Given the description of an element on the screen output the (x, y) to click on. 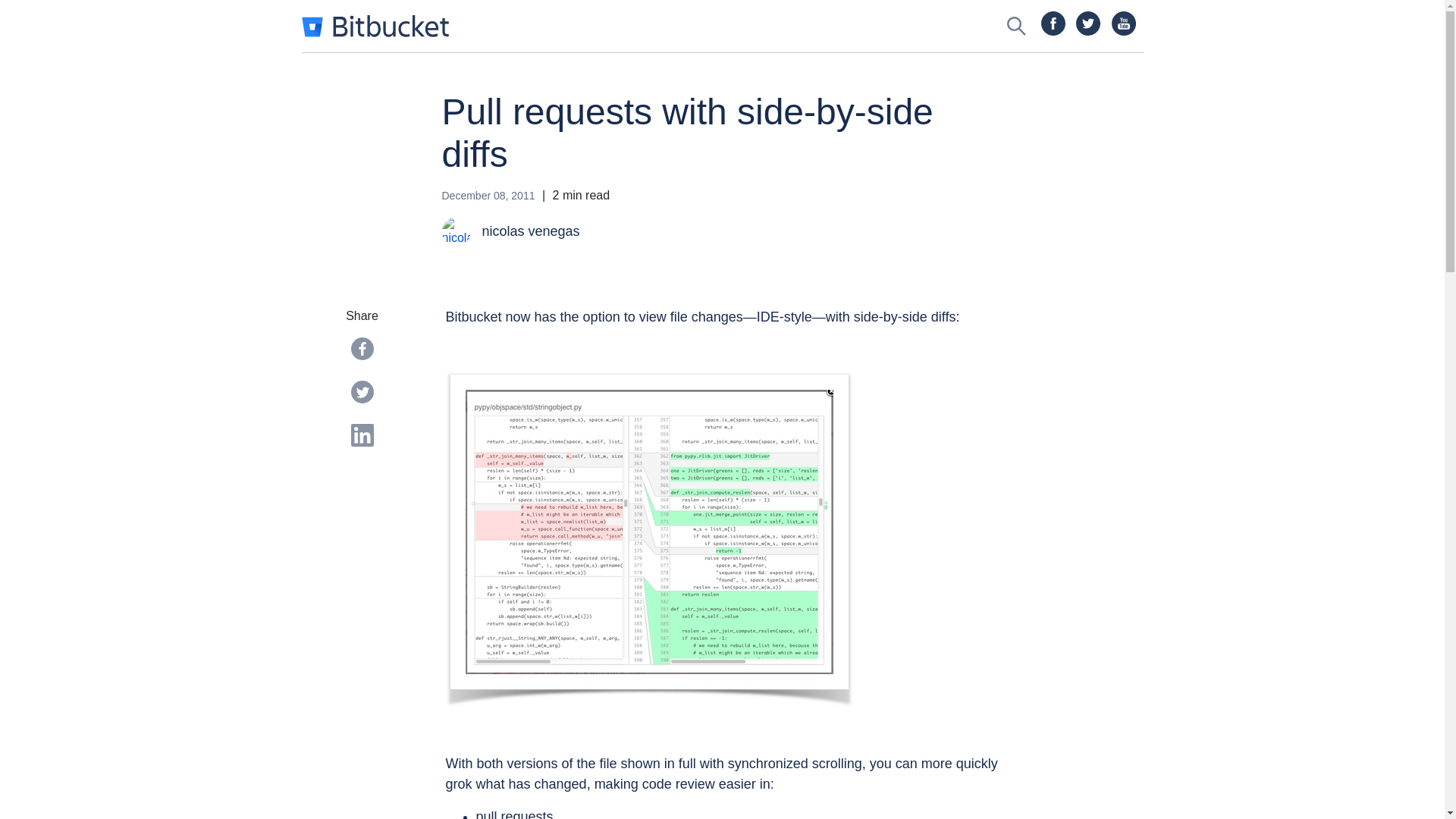
Share to Twitter (361, 391)
Atlassian on YouTube (1123, 23)
Bitbucket (374, 25)
Bitbucket on Facebook (1053, 23)
Share to Facebook (361, 348)
Follow Bitbucket on Twitter (1087, 23)
nicolas venegas (594, 231)
Share to LinkedIn (361, 435)
Search (1016, 26)
